Given the description of an element on the screen output the (x, y) to click on. 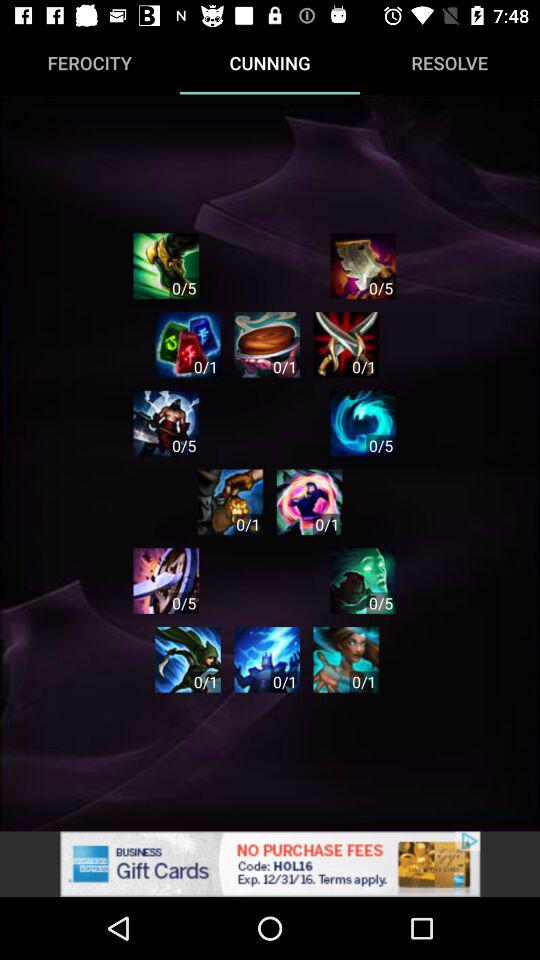
theme option (363, 423)
